Given the description of an element on the screen output the (x, y) to click on. 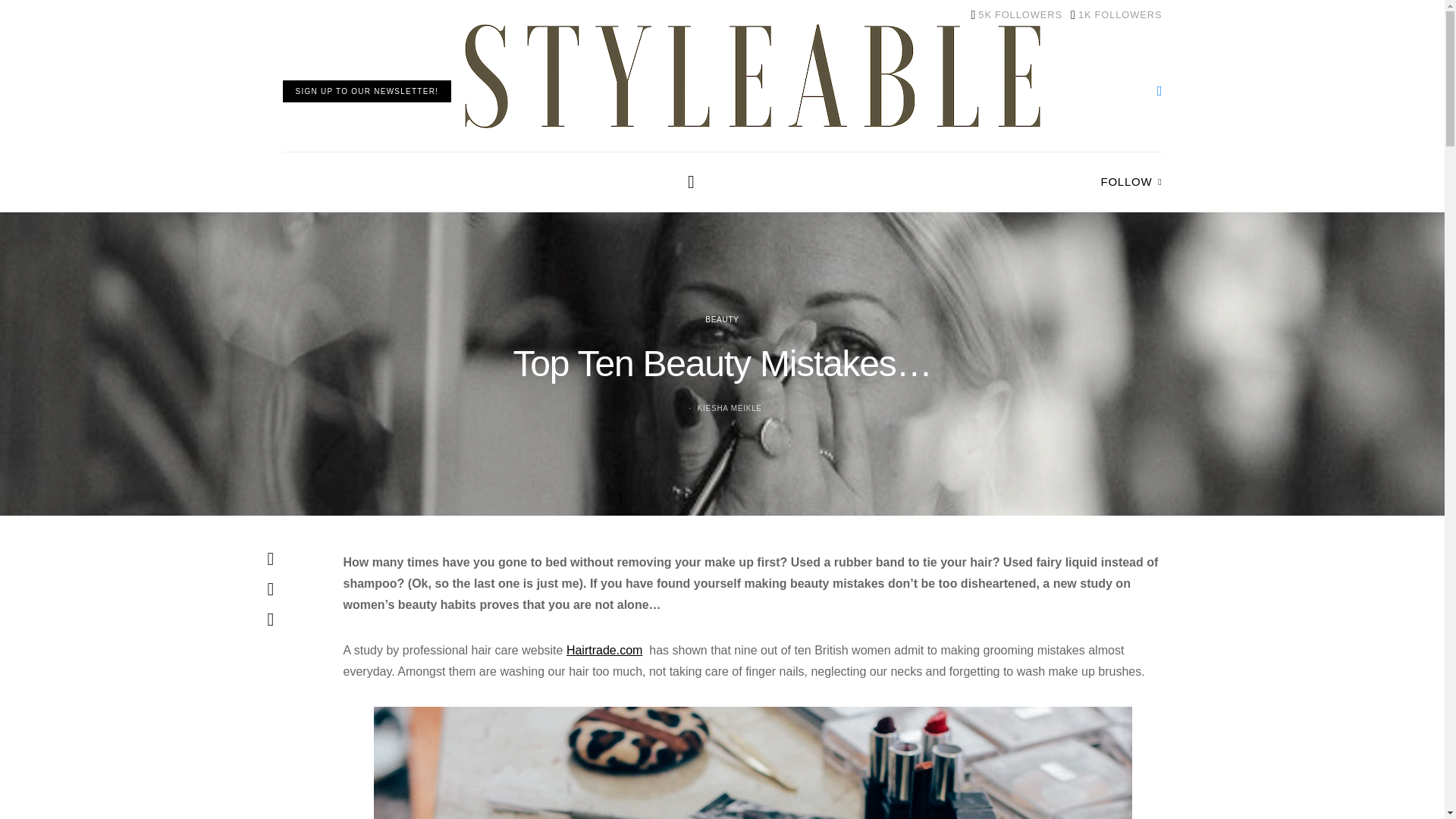
SIGN UP TO OUR NEWSLETTER! (366, 91)
View all posts by Kiesha Meikle (1016, 15)
